Given the description of an element on the screen output the (x, y) to click on. 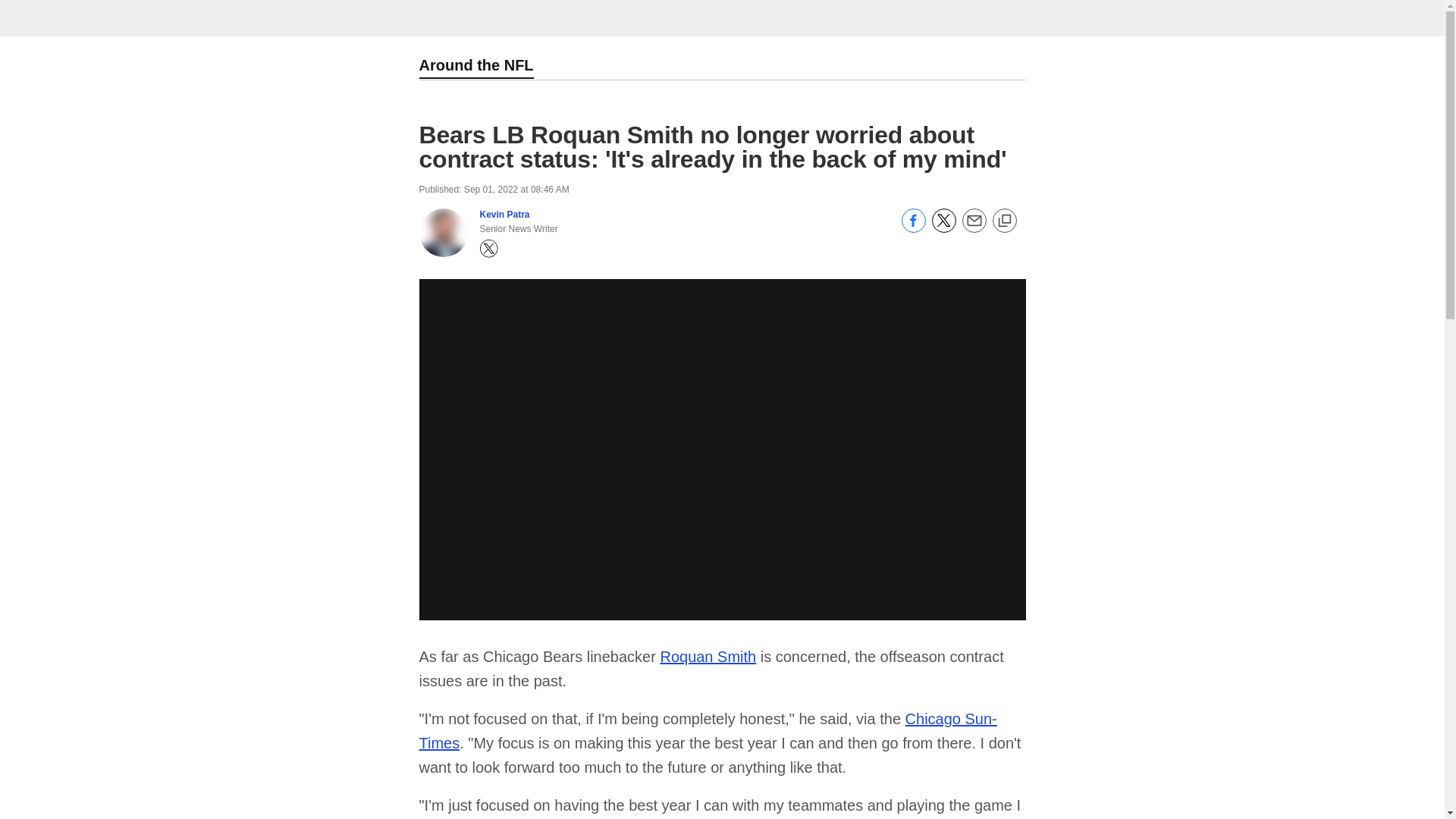
Chicago Sun-Times (707, 730)
Share on Twitter (943, 228)
Send email (972, 228)
Copy link (1003, 221)
Around the NFL (475, 66)
Kevin Patra (504, 214)
Roquan Smith (707, 656)
Roquan Smith (707, 656)
Share on Facebook (912, 228)
